Given the description of an element on the screen output the (x, y) to click on. 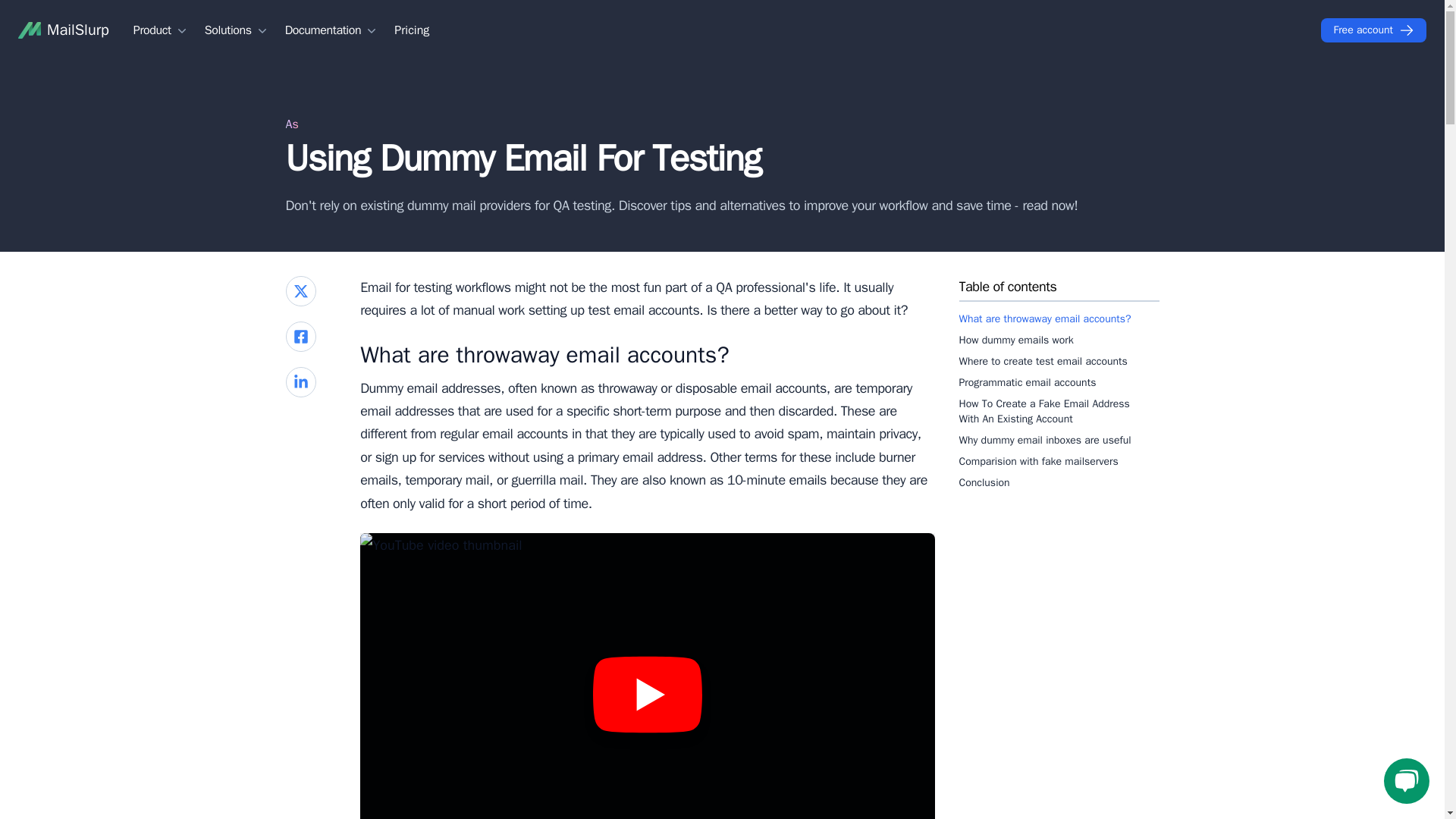
Share on X (300, 291)
Programmatic email accounts (1058, 382)
Share on Facebook (300, 336)
Solutions (237, 29)
MailSlurp (63, 29)
Where to create test email accounts (1058, 361)
What are throwaway email accounts? (1058, 318)
Share on LinkedIn (300, 381)
Product (161, 29)
How To Create a Fake Email Address With An Existing Account (1058, 411)
Free account (1373, 30)
Pricing (411, 30)
Pricing (411, 30)
How dummy emails work (1058, 340)
Documentation (332, 29)
